Given the description of an element on the screen output the (x, y) to click on. 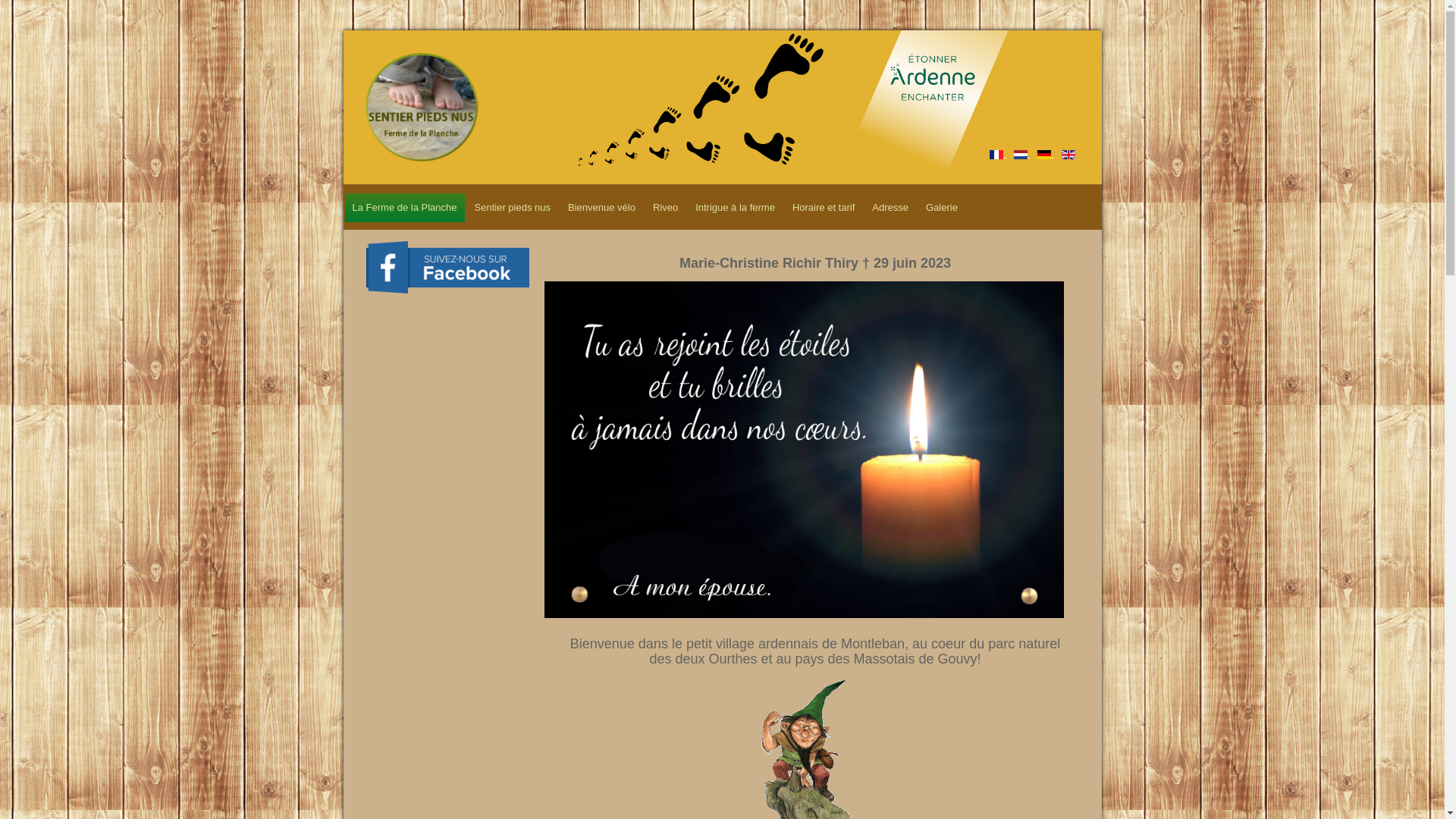
Horaire et tarif Element type: text (823, 207)
Sentier pieds nus Element type: text (512, 207)
English (UK) Element type: hover (1068, 154)
Nederlands (nl-NL) Element type: hover (1020, 154)
Deutsch (Deutschland) Element type: hover (1044, 154)
Galerie Element type: text (941, 207)
La Ferme de la Planche Element type: text (404, 207)
Adresse Element type: text (890, 207)
Riveo Element type: text (665, 207)
Rejoignez-nous sur Facebook Element type: hover (446, 267)
